Given the description of an element on the screen output the (x, y) to click on. 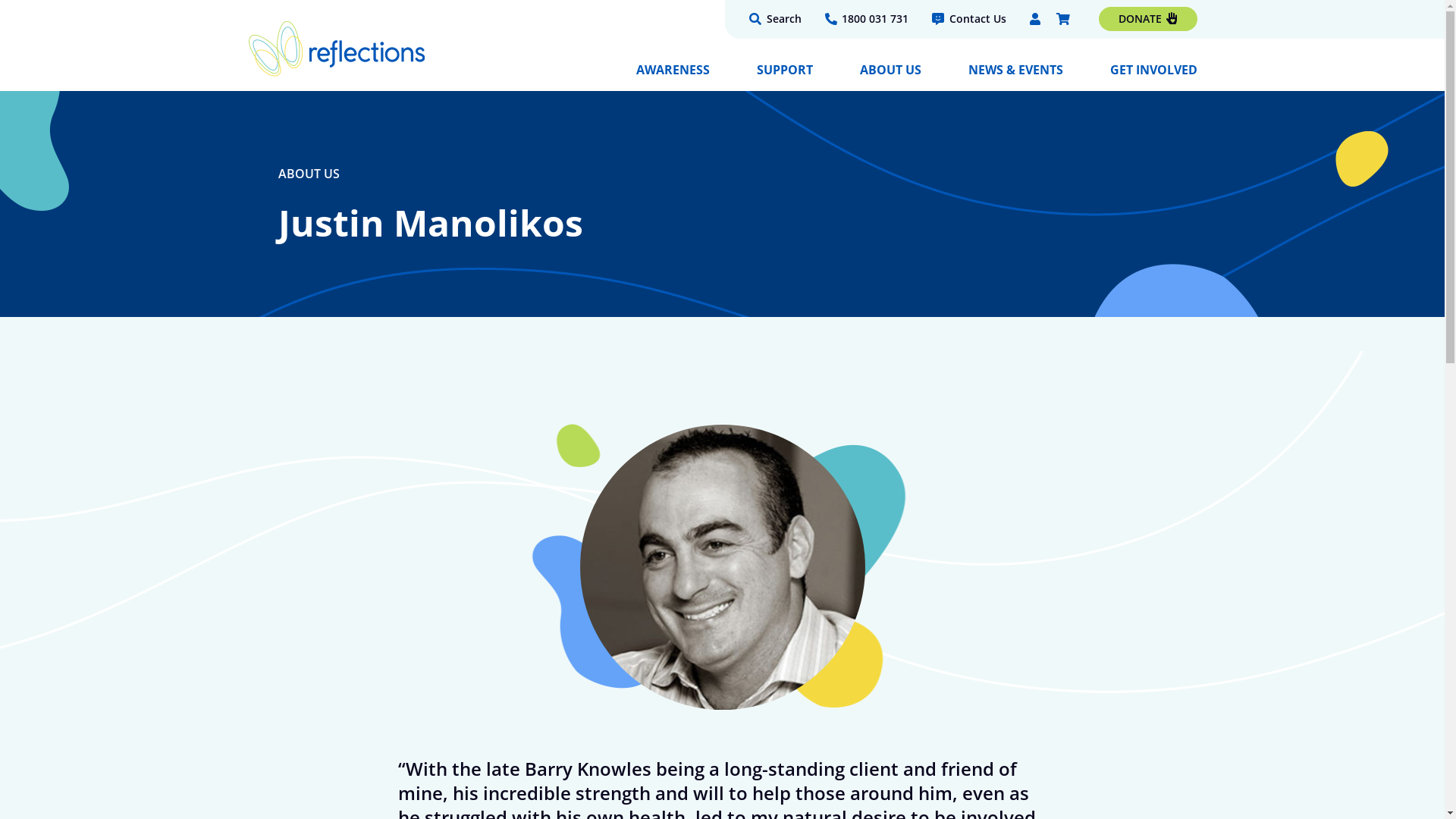
Contact Us Element type: text (968, 18)
Checkout Element type: text (1064, 20)
ABOUT US Element type: text (890, 75)
SUPPORT Element type: text (784, 75)
GET INVOLVED Element type: text (1153, 75)
1800 031 731 Element type: text (866, 18)
Search Element type: text (775, 18)
DONATE Element type: text (1147, 18)
NEWS & EVENTS Element type: text (1014, 75)
AWARENESS Element type: text (672, 75)
My Account Element type: text (1037, 20)
